Given the description of an element on the screen output the (x, y) to click on. 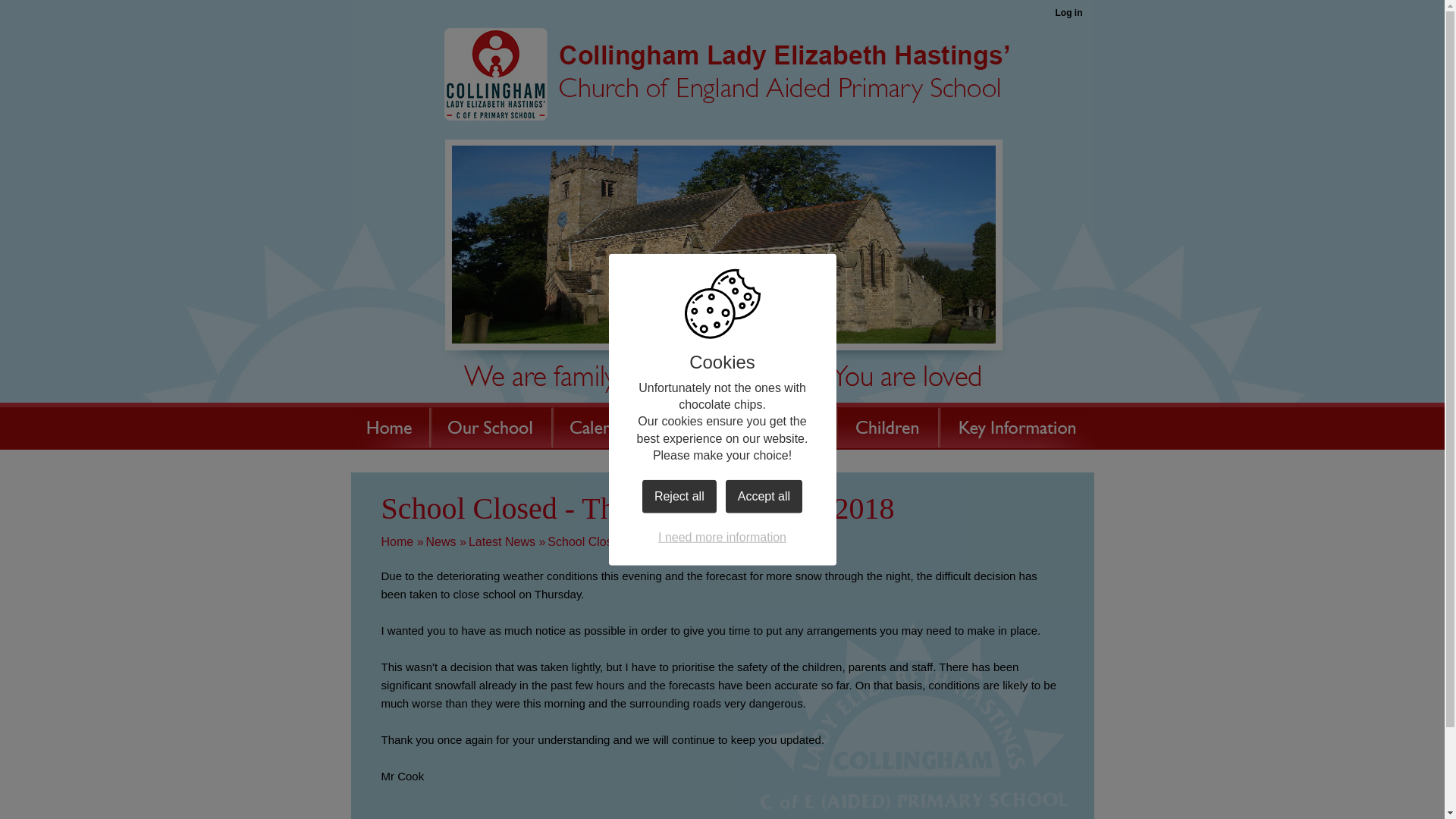
Home Page (721, 88)
News (441, 541)
Our School (490, 425)
Home (389, 425)
Log in (1068, 13)
Home Page (721, 88)
School Closed - Thursday 1st March 2018 (660, 541)
Latest News (501, 541)
Home (396, 541)
